Given the description of an element on the screen output the (x, y) to click on. 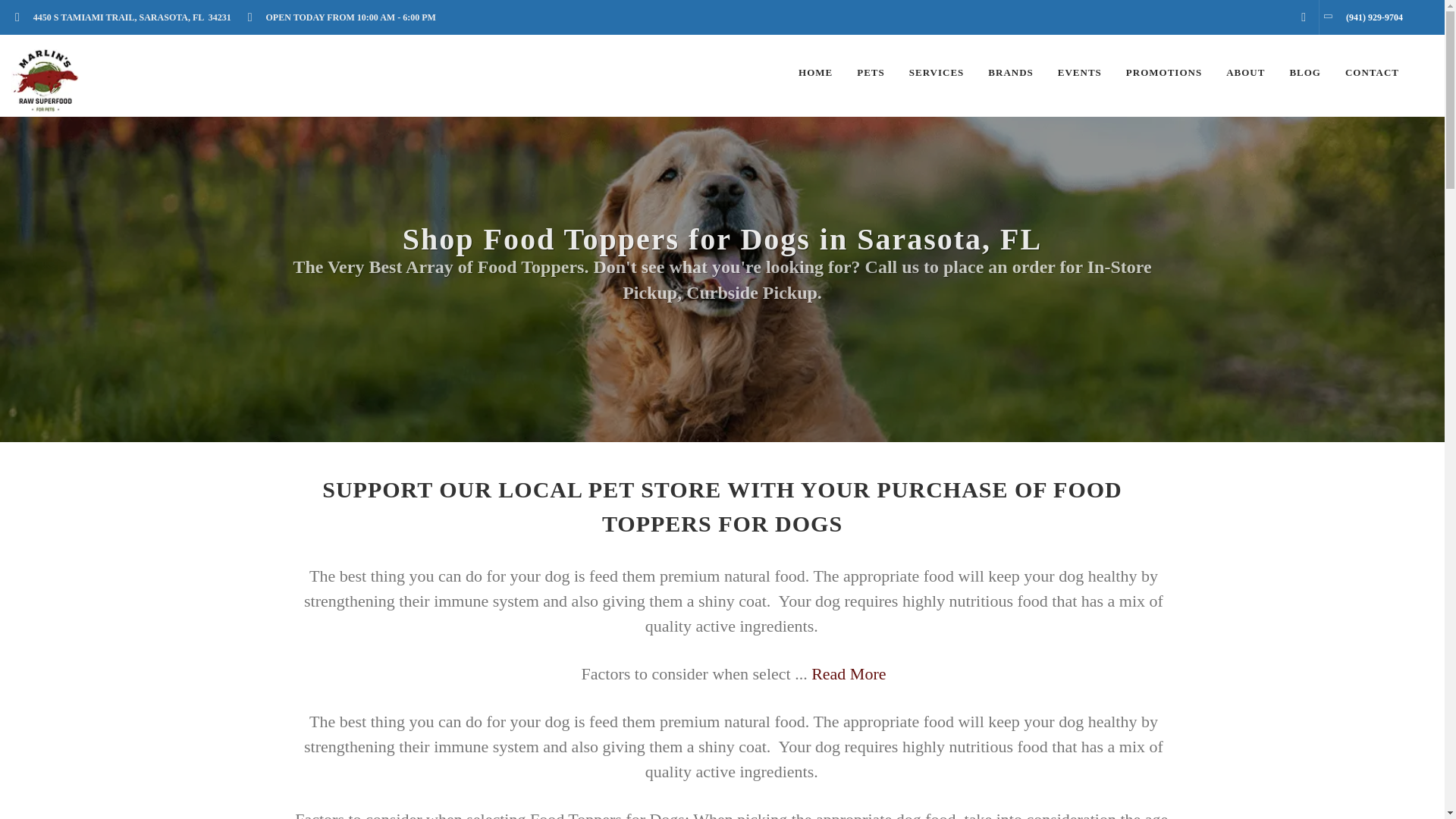
Marlin's Raw Superfood for Pets BRANDS Near Sarasota (1009, 72)
SERVICES (936, 72)
Read More (847, 673)
Marlin's Raw Superfood for Pets SERVICES Near Sarasota (936, 72)
PROMOTIONS (1163, 72)
4450 S TAMIAMI TRAIL, SARASOTA, FL  34231 (127, 16)
CONTACT (1371, 72)
BRANDS (1009, 72)
OPEN TODAY FROM 10:00 AM - 6:00 PM (346, 16)
Marlin's Raw Superfood for Pets PROMOTIONS Near Sarasota (1163, 72)
